Given the description of an element on the screen output the (x, y) to click on. 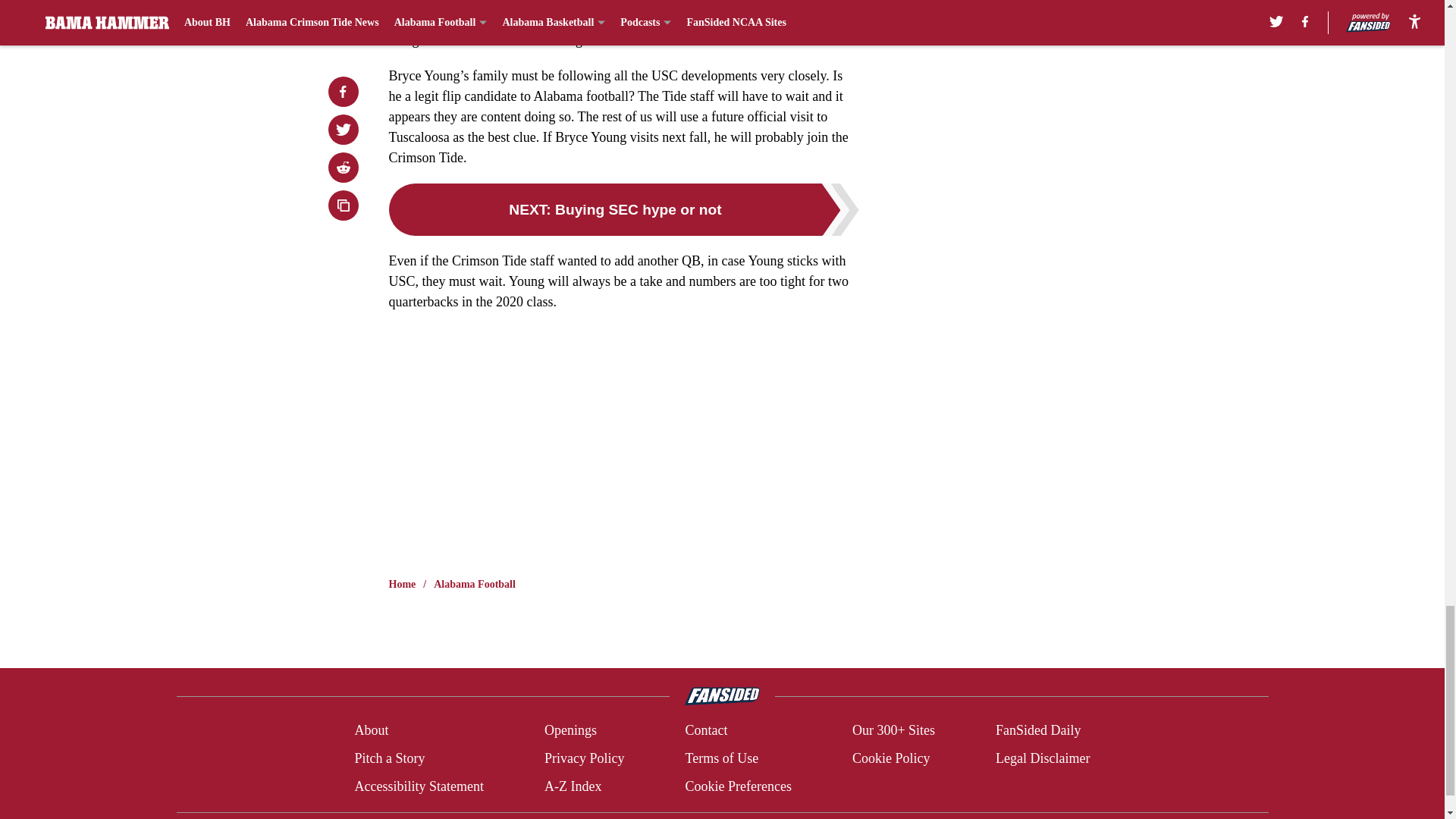
FanSided Daily (1038, 730)
Home (401, 584)
About (370, 730)
Openings (570, 730)
Terms of Use (721, 758)
Alabama Football (474, 584)
Privacy Policy (584, 758)
Contact (705, 730)
NEXT: Buying SEC hype or not (623, 209)
Pitch a Story (389, 758)
